Given the description of an element on the screen output the (x, y) to click on. 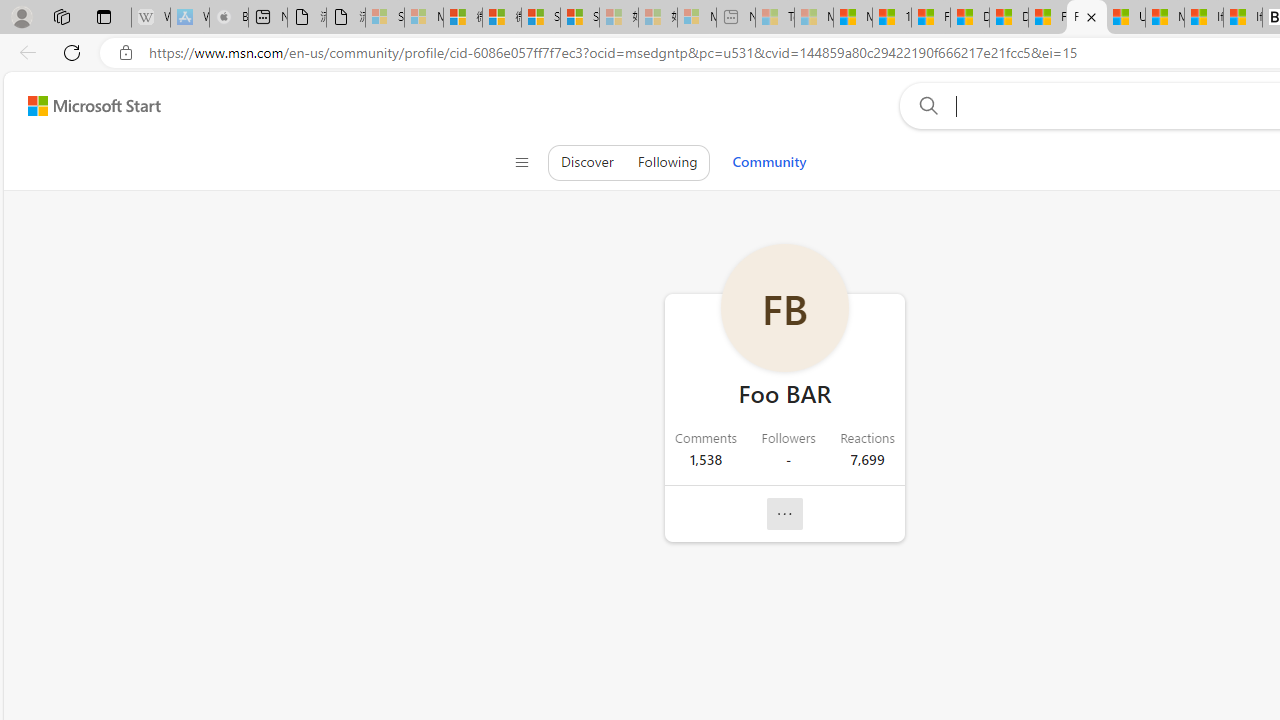
Community (769, 162)
Marine life - MSN - Sleeping (813, 17)
Microsoft Services Agreement - Sleeping (423, 17)
Class: control icon-only (521, 162)
